Given the description of an element on the screen output the (x, y) to click on. 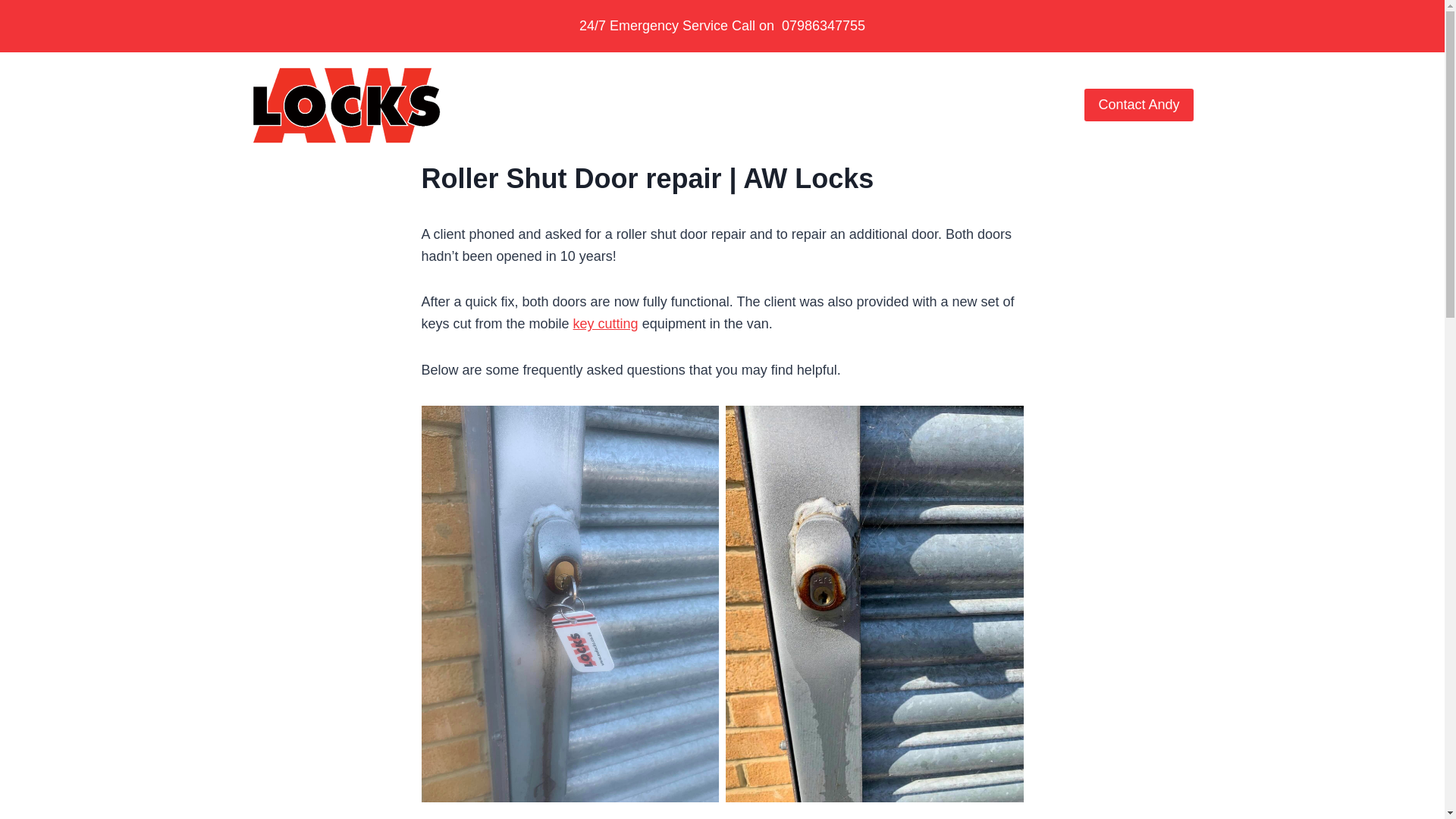
Contact Andy (1138, 104)
key cutting (606, 323)
